Given the description of an element on the screen output the (x, y) to click on. 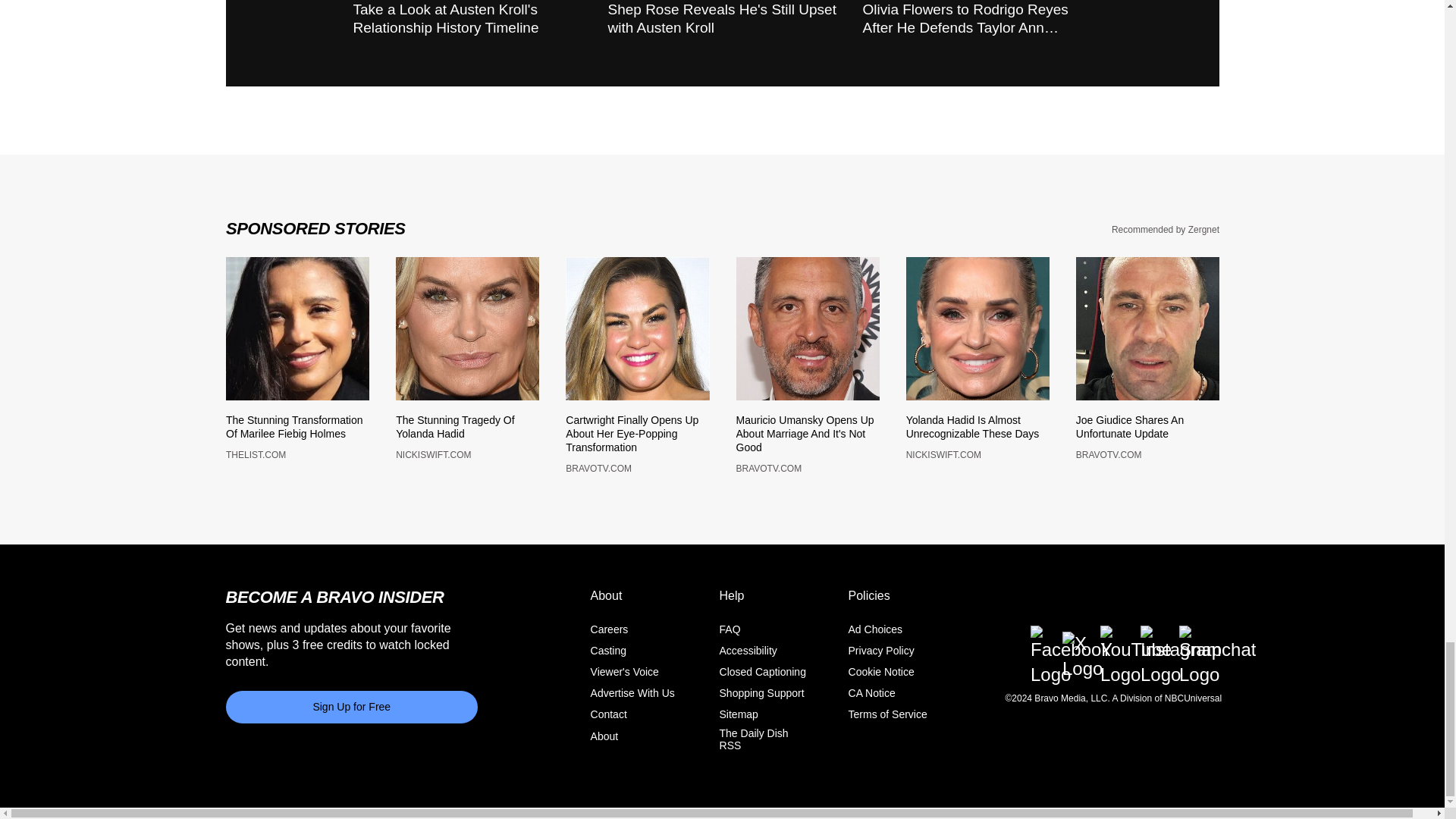
Advertise With Us (633, 702)
